Given the description of an element on the screen output the (x, y) to click on. 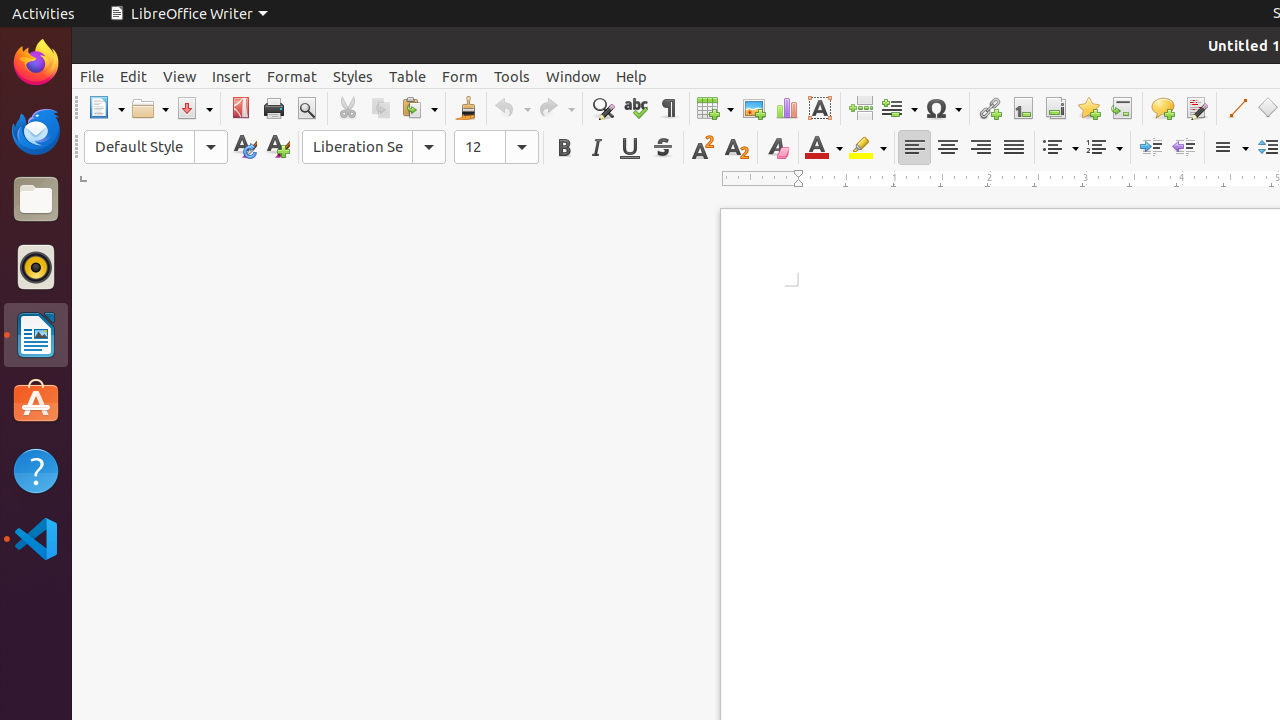
Help Element type: menu (631, 76)
LibreOffice Writer Element type: menu (188, 13)
Thunderbird Mail Element type: push-button (36, 131)
Table Element type: menu (407, 76)
Format Element type: menu (292, 76)
